Given the description of an element on the screen output the (x, y) to click on. 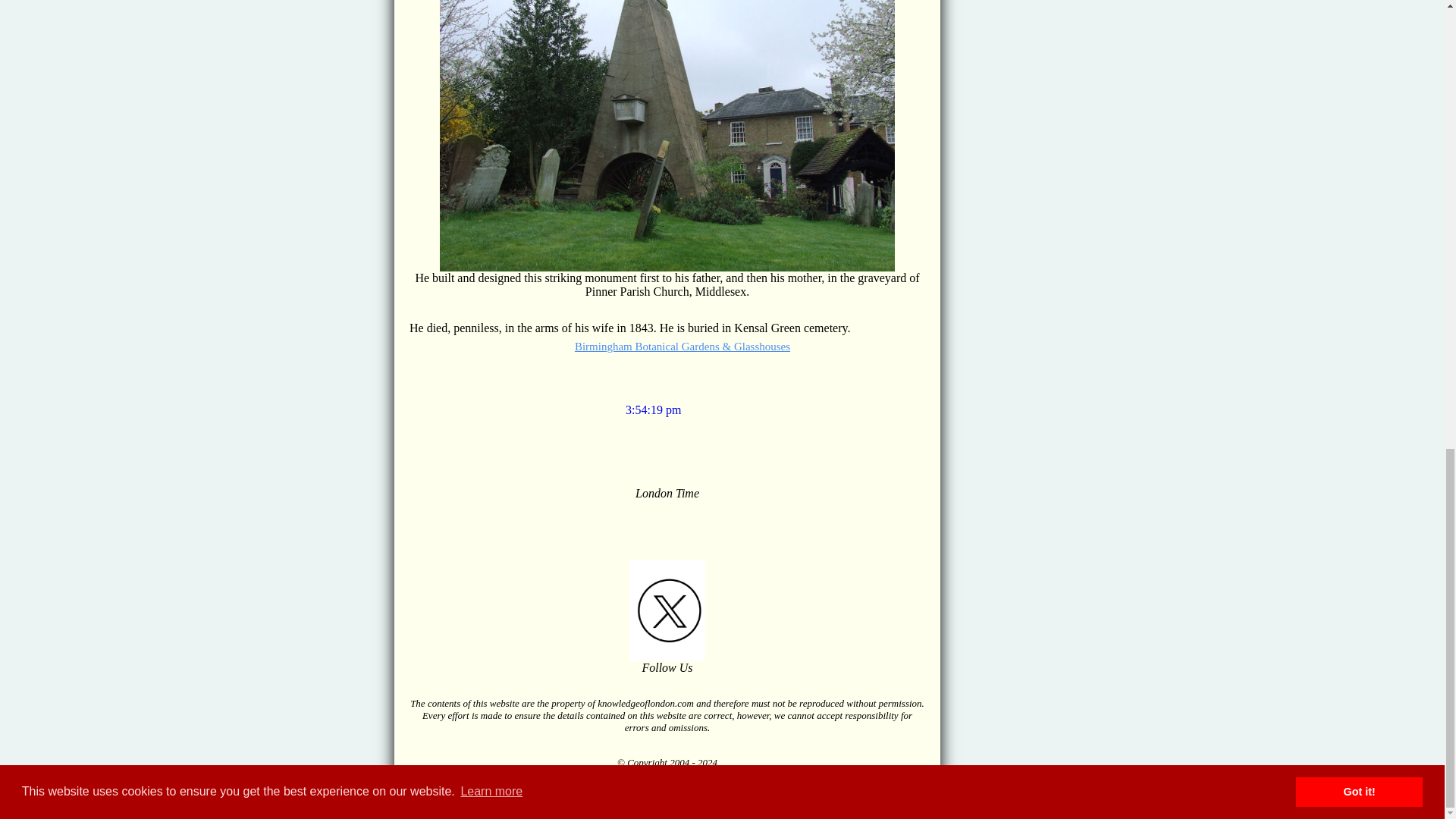
Contact Us (646, 797)
Advertise (693, 797)
